Given the description of an element on the screen output the (x, y) to click on. 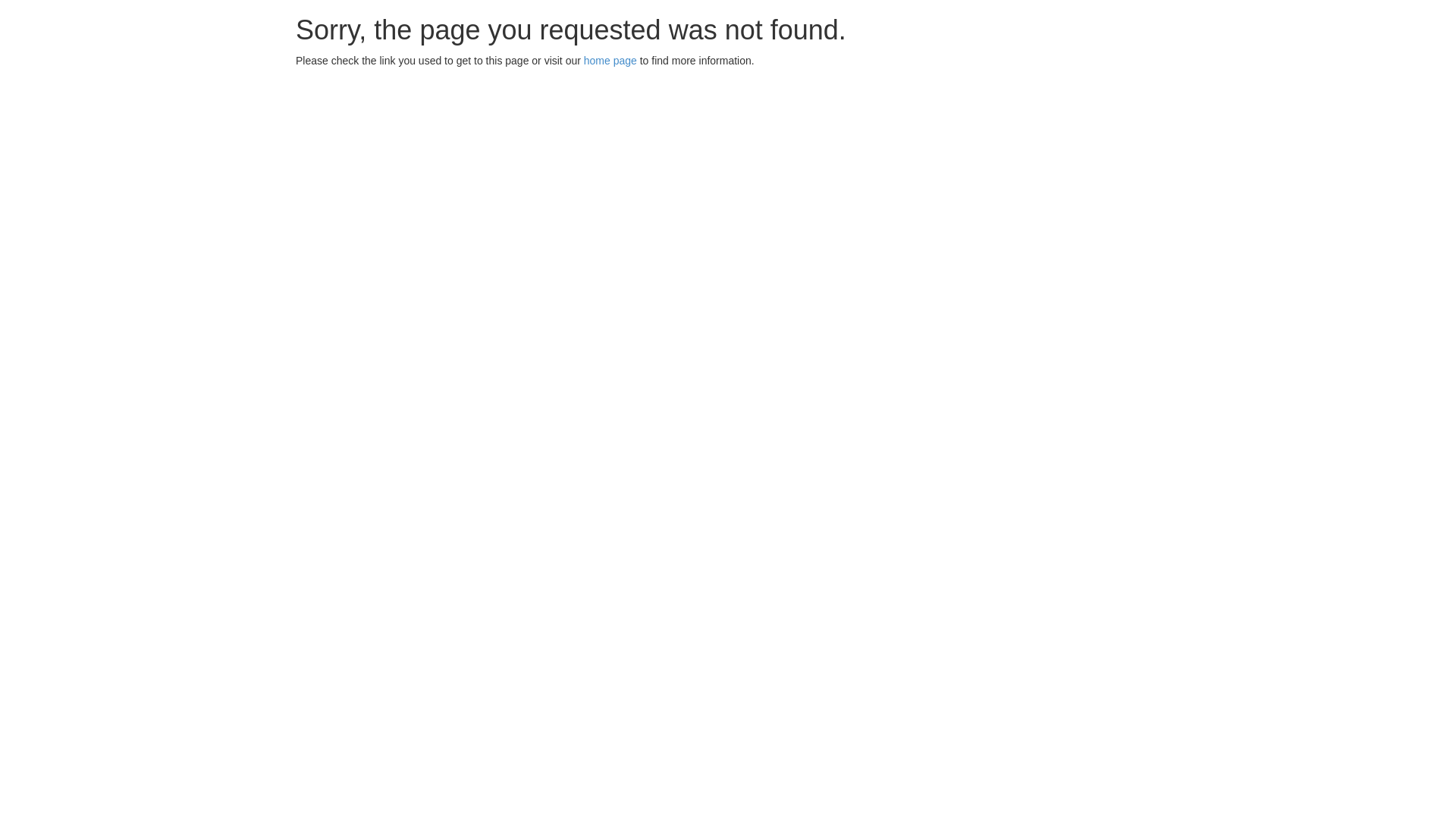
home page Element type: text (610, 60)
